Given the description of an element on the screen output the (x, y) to click on. 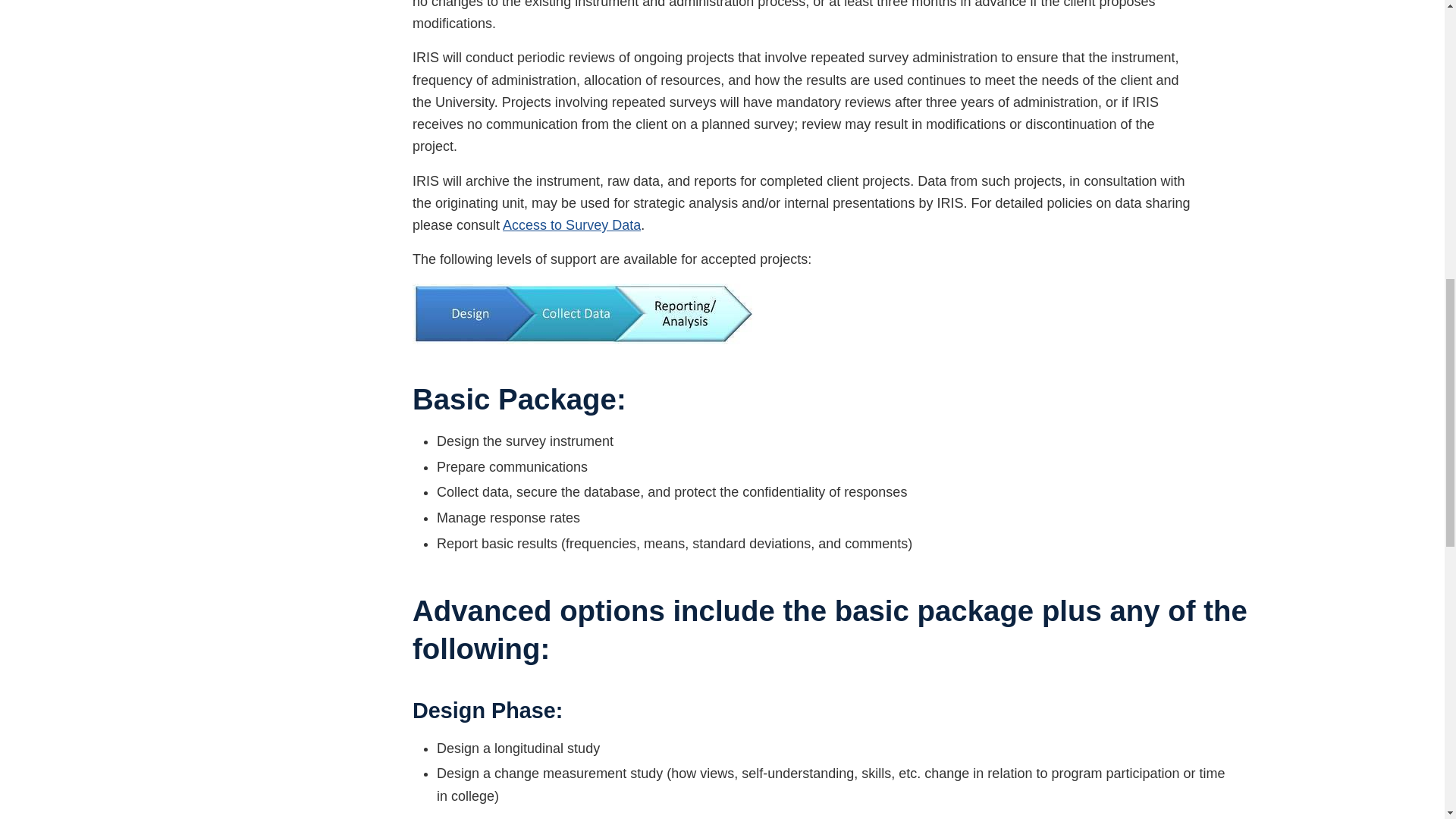
Access to Survey Data (571, 224)
Survey Phase (583, 313)
